Given the description of an element on the screen output the (x, y) to click on. 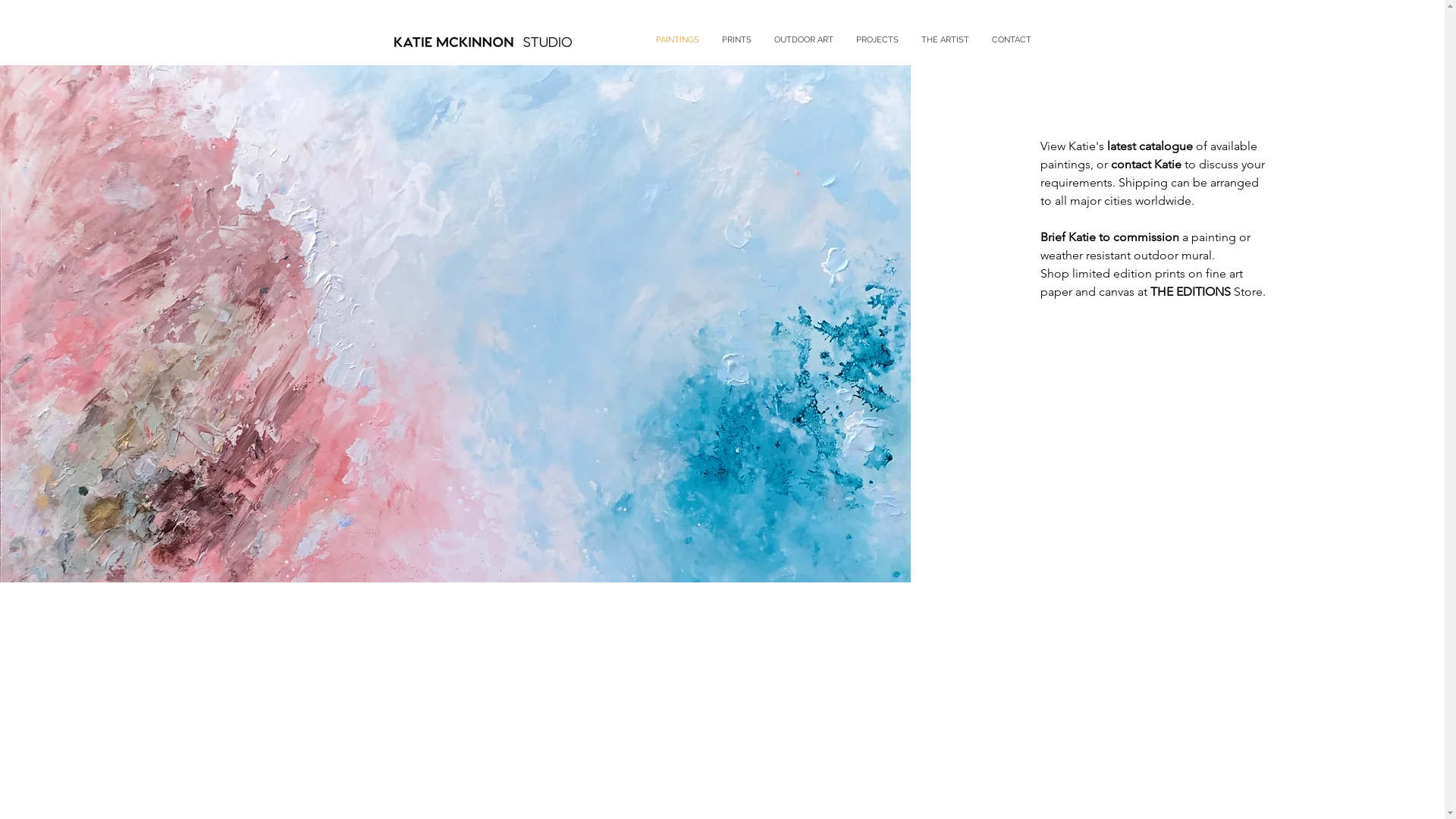
latest catalogue Element type: text (1149, 145)
PROJECTS Element type: text (877, 39)
THE ARTIST Element type: text (945, 39)
CONTACT Element type: text (1010, 39)
Black logo - no background.png Element type: hover (482, 39)
OUTDOOR ART Element type: text (803, 39)
THE EDITIONS Element type: text (1190, 291)
PAINTINGS Element type: text (677, 39)
Brief Katie to commission Element type: text (1109, 236)
PRINTS Element type: text (735, 39)
